Given the description of an element on the screen output the (x, y) to click on. 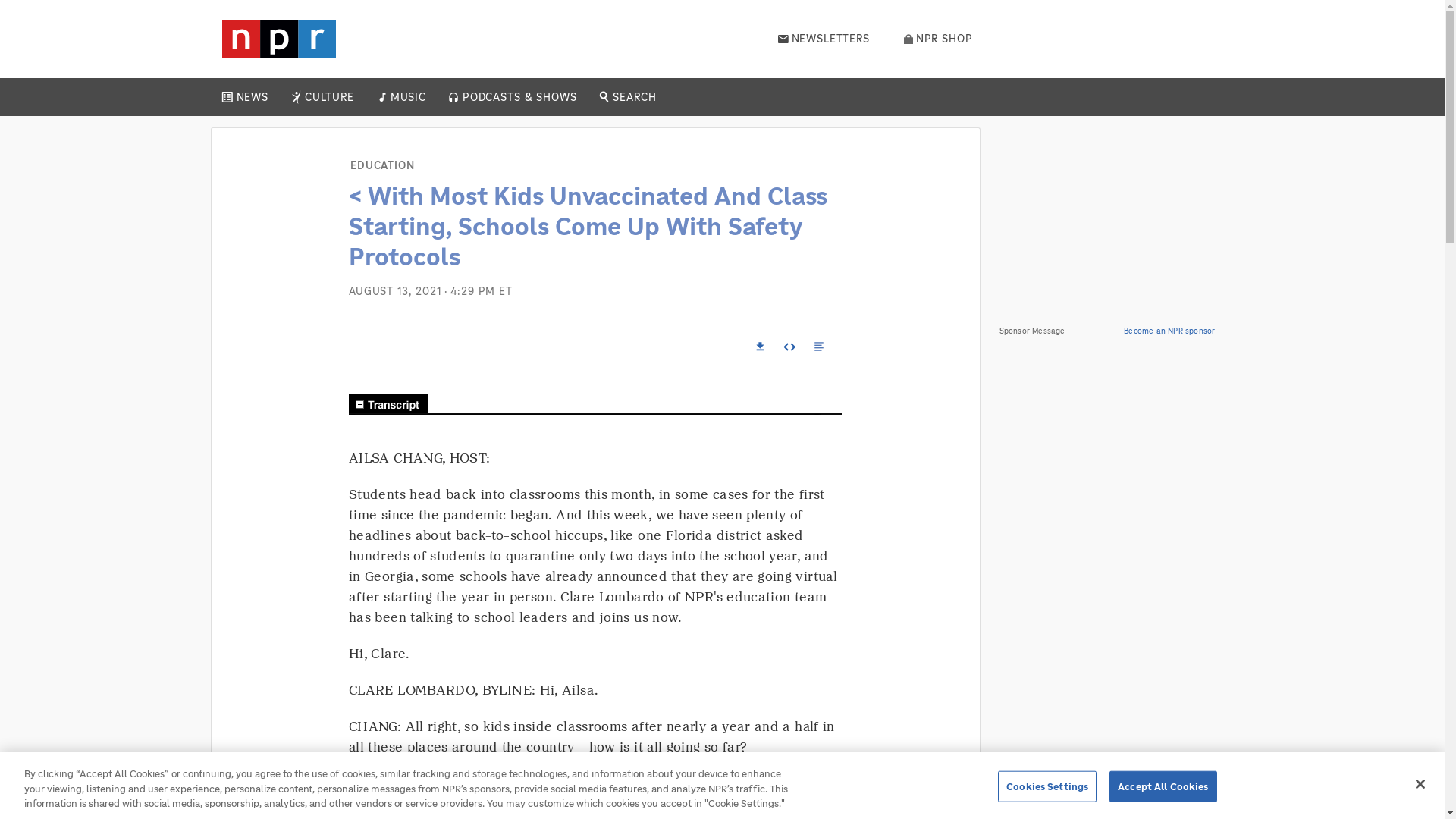
NPR SHOP (938, 38)
CULTURE (328, 96)
NEWS (251, 96)
NEWSLETTERS (823, 38)
MUSIC (407, 96)
